Given the description of an element on the screen output the (x, y) to click on. 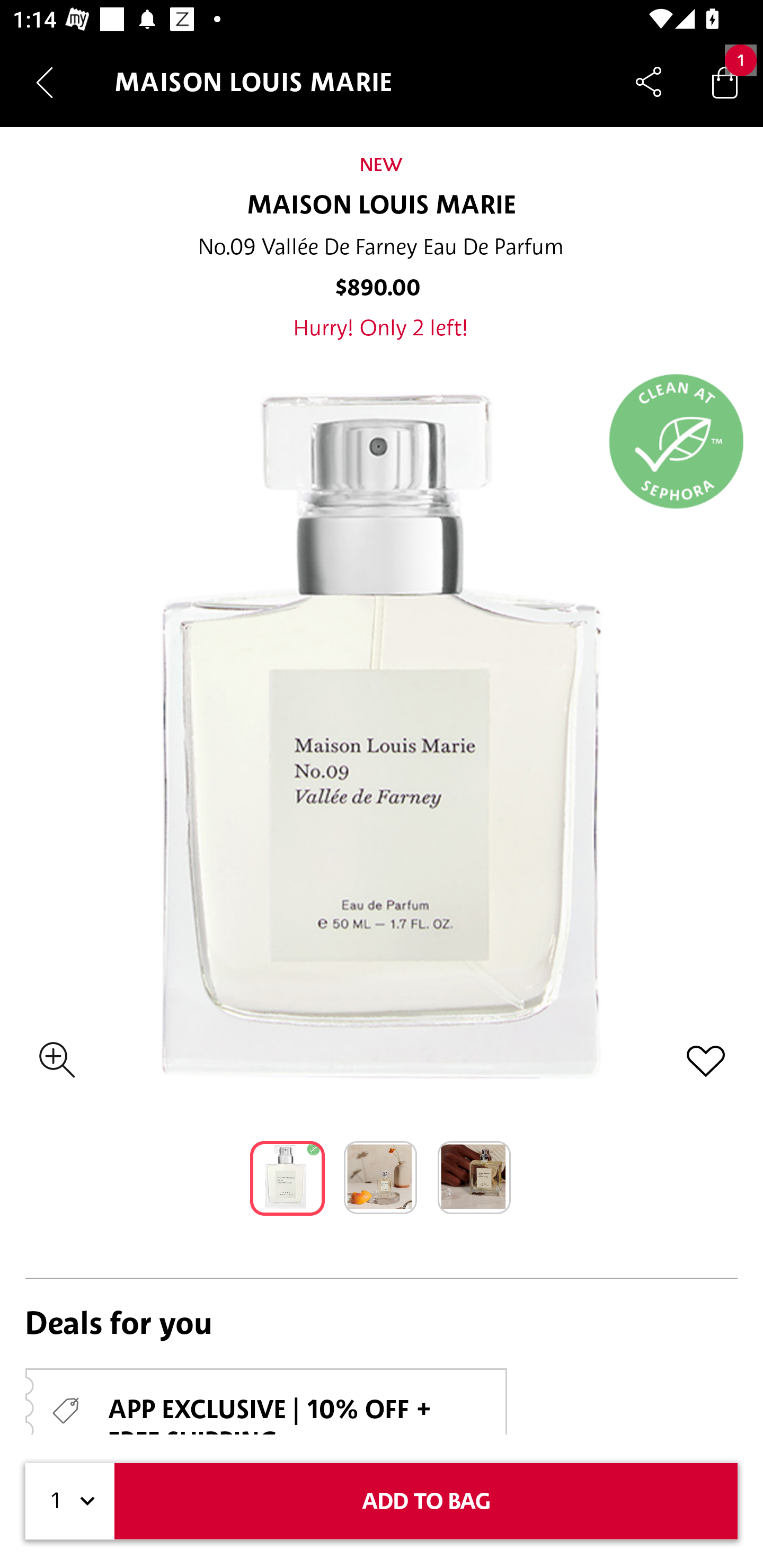
Navigate up (44, 82)
Share (648, 81)
Bag (724, 81)
MAISON LOUIS MARIE (381, 205)
1 (69, 1500)
ADD TO BAG (425, 1500)
